Given the description of an element on the screen output the (x, y) to click on. 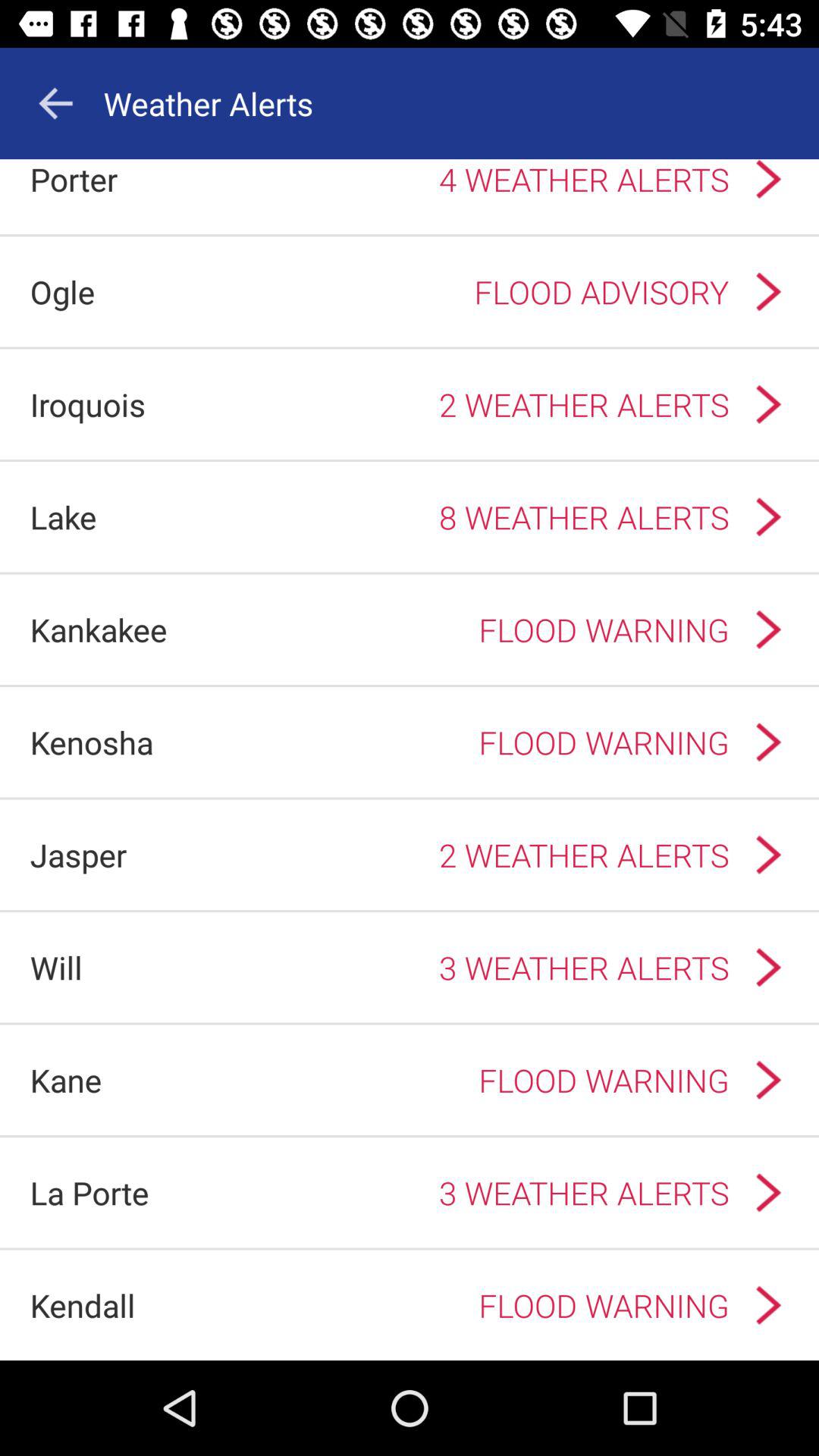
open item to the left of the 2 weather alerts item (78, 854)
